Given the description of an element on the screen output the (x, y) to click on. 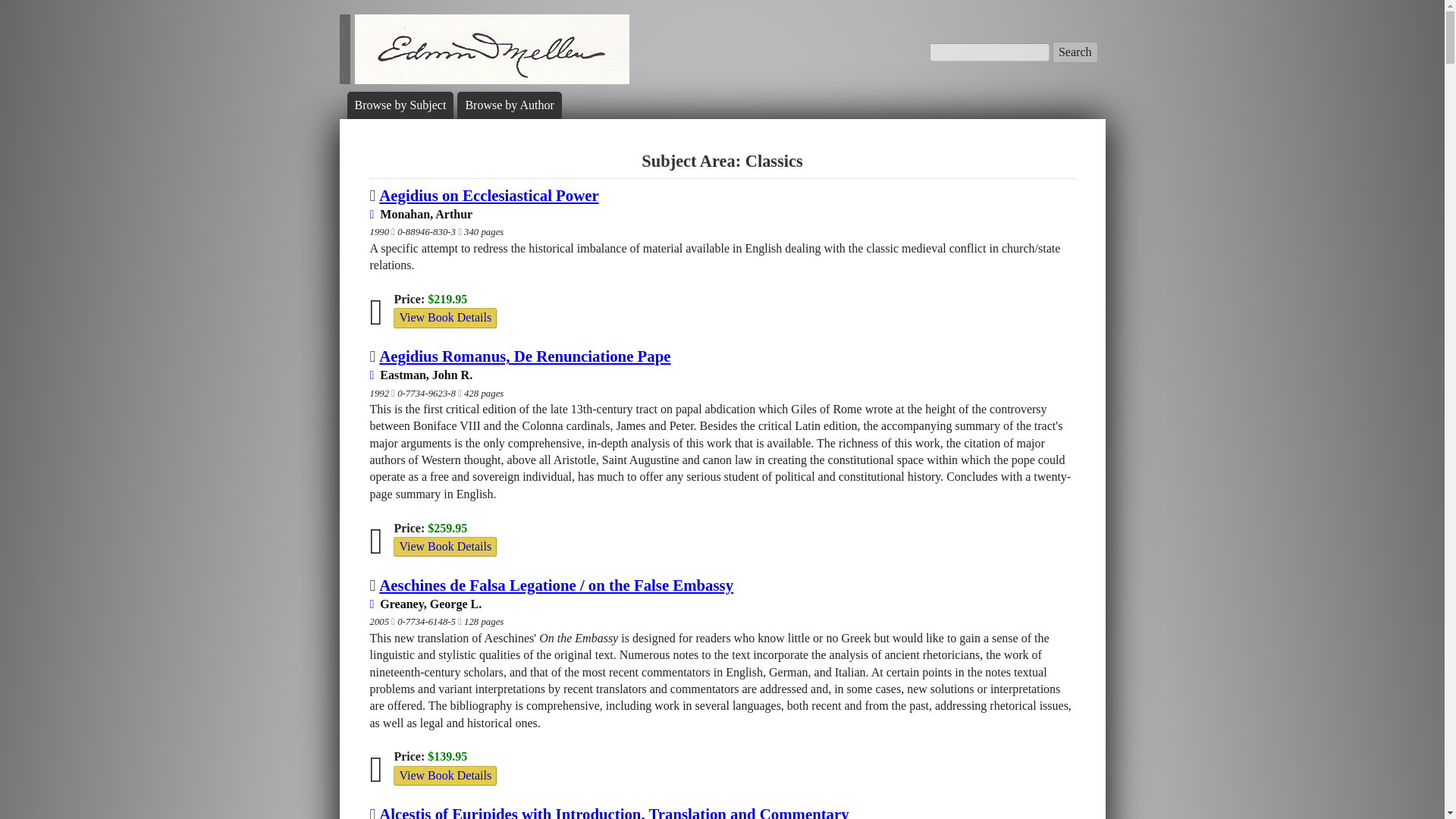
View Book Details (444, 317)
Browse by Subject (400, 105)
Browse by Author (508, 105)
View Book Details (444, 545)
 Eastman, John R. (421, 374)
Search (1074, 52)
Aegidius Romanus, De Renunciatione Pape (523, 355)
View Book Details (444, 775)
 Monahan, Arthur (421, 214)
